Given the description of an element on the screen output the (x, y) to click on. 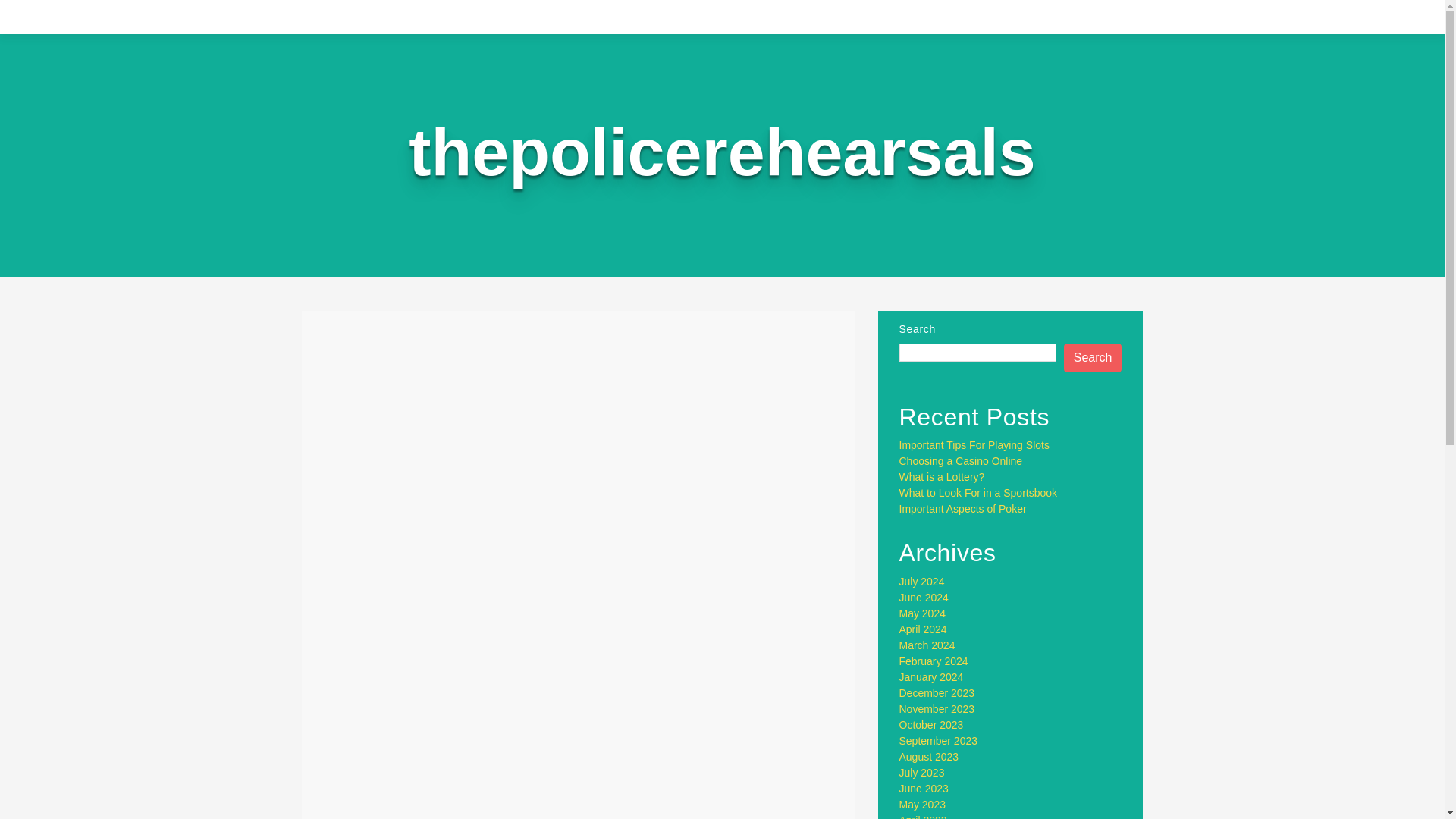
February 2024 (933, 661)
April 2024 (923, 629)
October 2023 (931, 725)
Admin (504, 386)
July 2023 (921, 772)
September 2023 (938, 740)
Important Aspects of Poker (962, 508)
April 2023 (923, 816)
June 2024 (924, 597)
What is a Lottery? (942, 476)
July 2024 (921, 581)
Search (1093, 357)
What to Look For in a Sportsbook (978, 492)
June 2023 (924, 788)
March 2024 (927, 645)
